Given the description of an element on the screen output the (x, y) to click on. 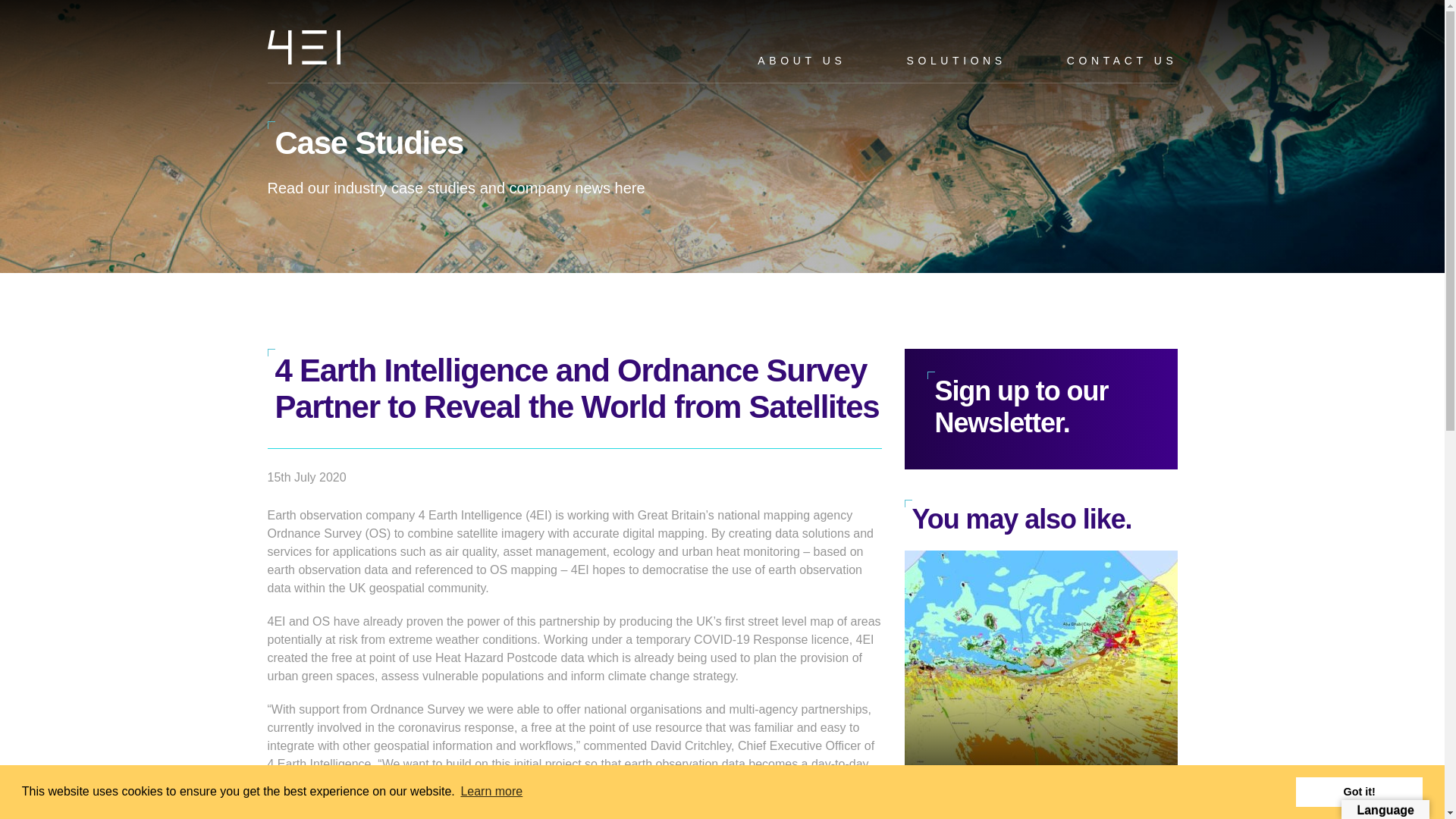
Learn more (491, 791)
ABOUT US (801, 60)
Habitat Mapping (1040, 684)
CONTACT US (1122, 60)
SOLUTIONS (955, 60)
Got it! (1358, 791)
